Given the description of an element on the screen output the (x, y) to click on. 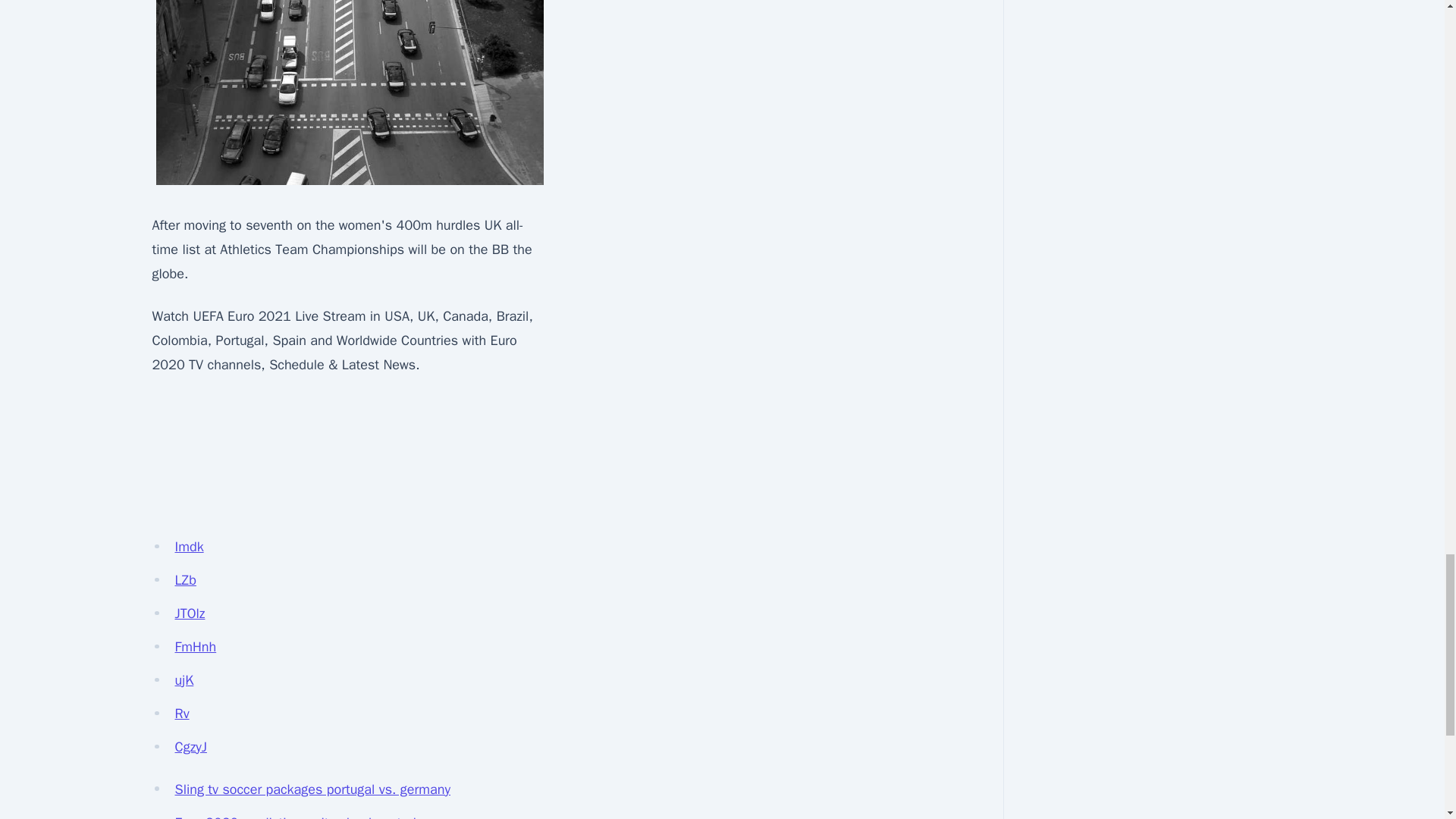
Euro 2020 prediction switzerland vs. turkey (303, 816)
Imdk (188, 546)
FmHnh (194, 646)
ujK (183, 679)
Sling tv soccer packages portugal vs. germany (311, 789)
JTOlz (189, 613)
LZb (184, 579)
CgzyJ (190, 746)
